Given the description of an element on the screen output the (x, y) to click on. 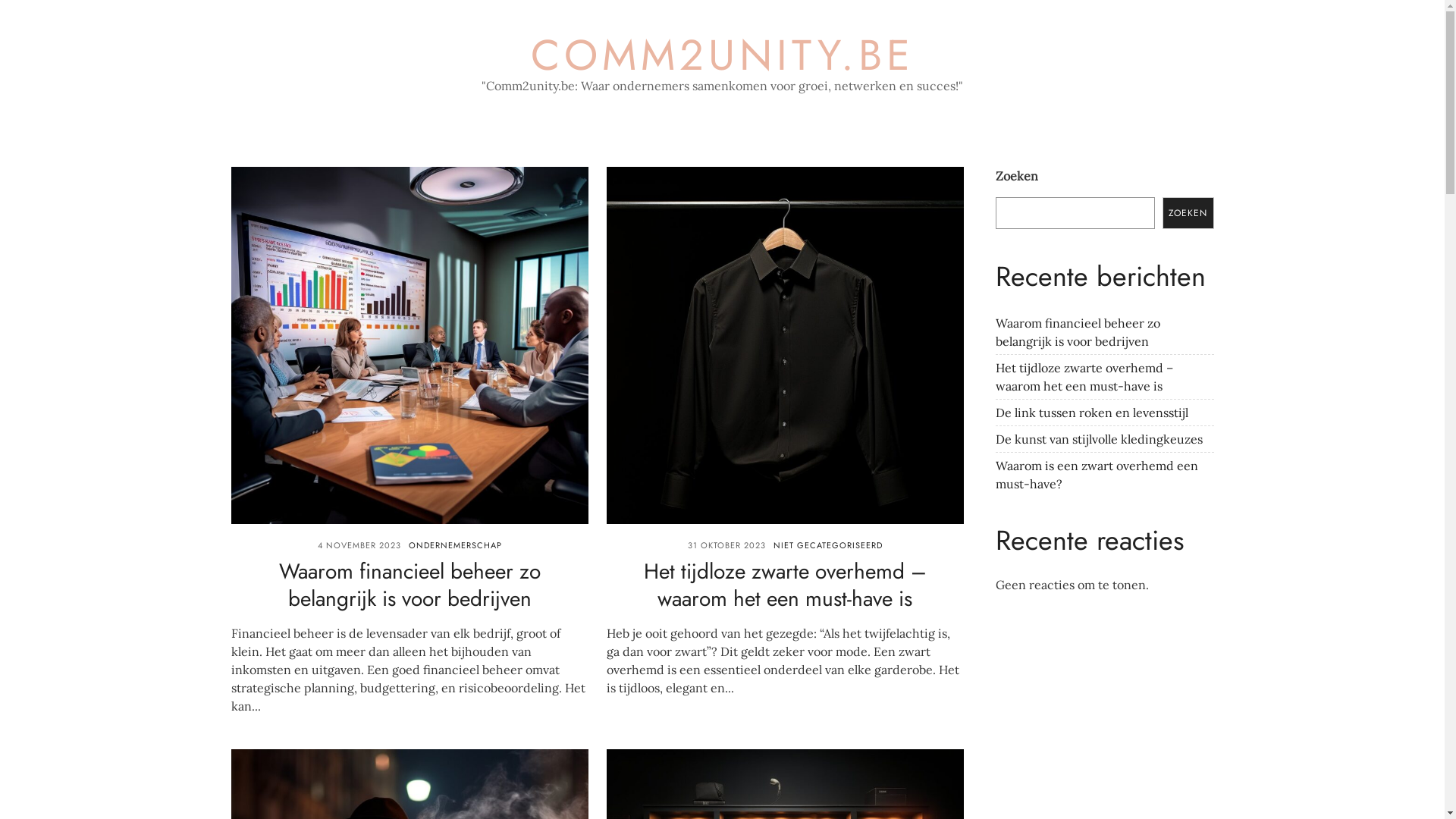
31 OKTOBER 2023 Element type: text (726, 545)
ONDERNEMERSCHAP Element type: text (454, 545)
ZOEKEN Element type: text (1187, 213)
Waarom is een zwart overhemd een must-have? Element type: text (1095, 474)
Waarom financieel beheer zo belangrijk is voor bedrijven Element type: text (409, 584)
NIET GECATEGORISEERD Element type: text (827, 545)
De kunst van stijlvolle kledingkeuzes Element type: text (1097, 438)
De link tussen roken en levensstijl Element type: text (1090, 412)
4 NOVEMBER 2023 Element type: text (358, 545)
Waarom financieel beheer zo belangrijk is voor bedrijven Element type: text (1076, 331)
